Given the description of an element on the screen output the (x, y) to click on. 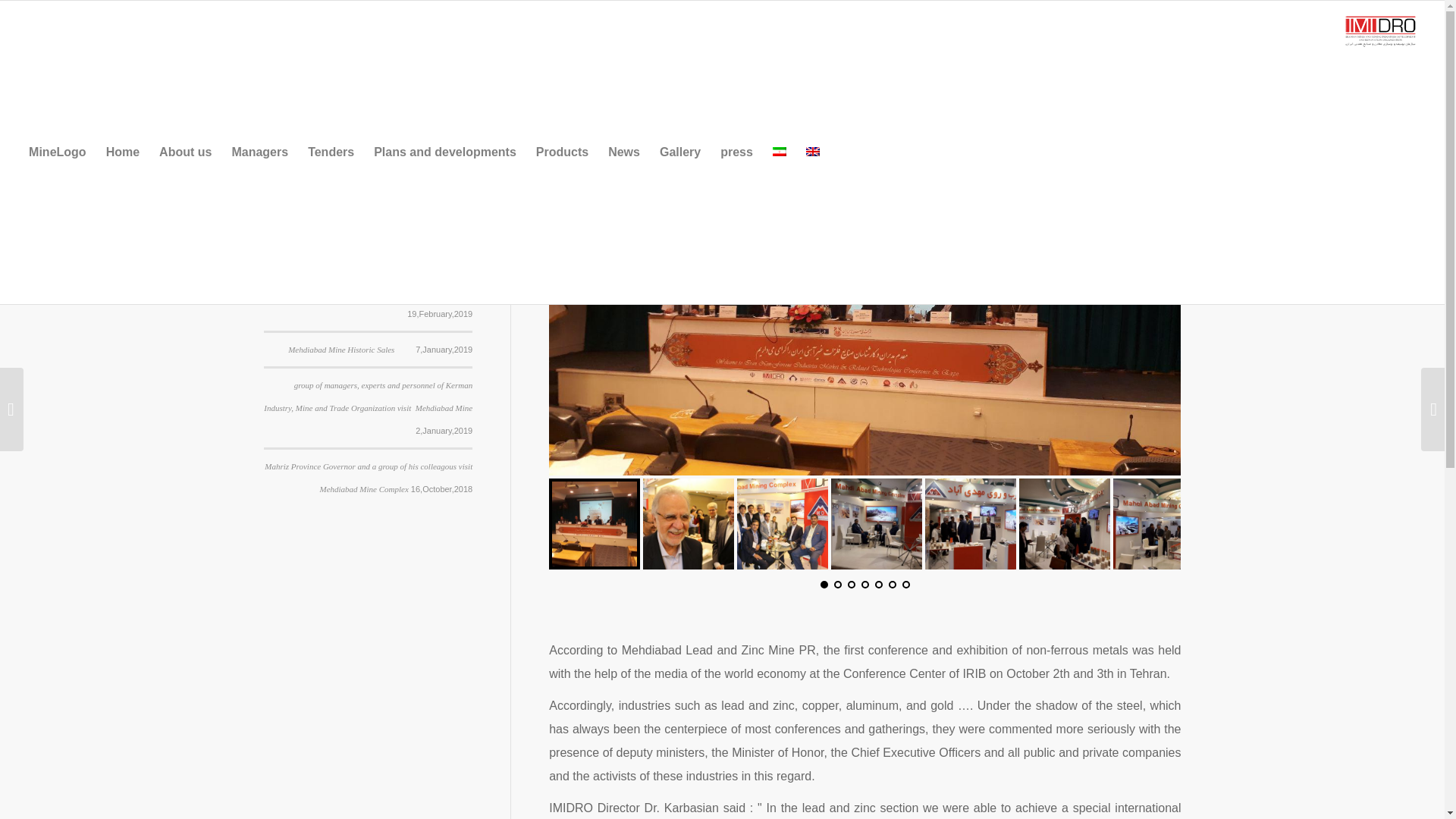
English (812, 151)
